Given the description of an element on the screen output the (x, y) to click on. 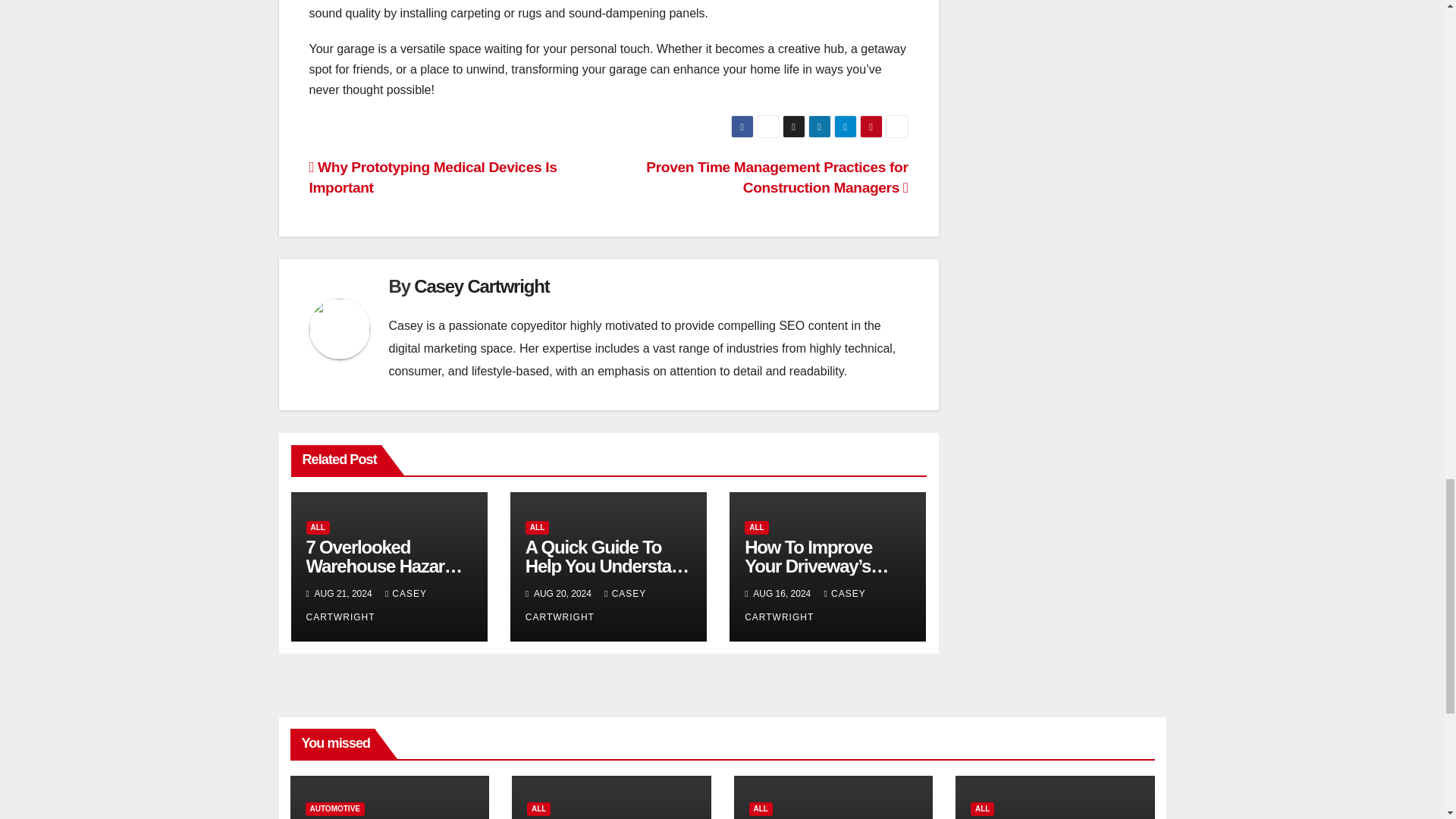
ALL (536, 527)
CASEY CARTWRIGHT (365, 605)
7 Overlooked Warehouse Hazards Facility Managers Should Know (384, 575)
Why Prototyping Medical Devices Is Important (432, 176)
ALL (317, 527)
Casey Cartwright (480, 286)
Proven Time Management Practices for Construction Managers (776, 176)
